Given the description of an element on the screen output the (x, y) to click on. 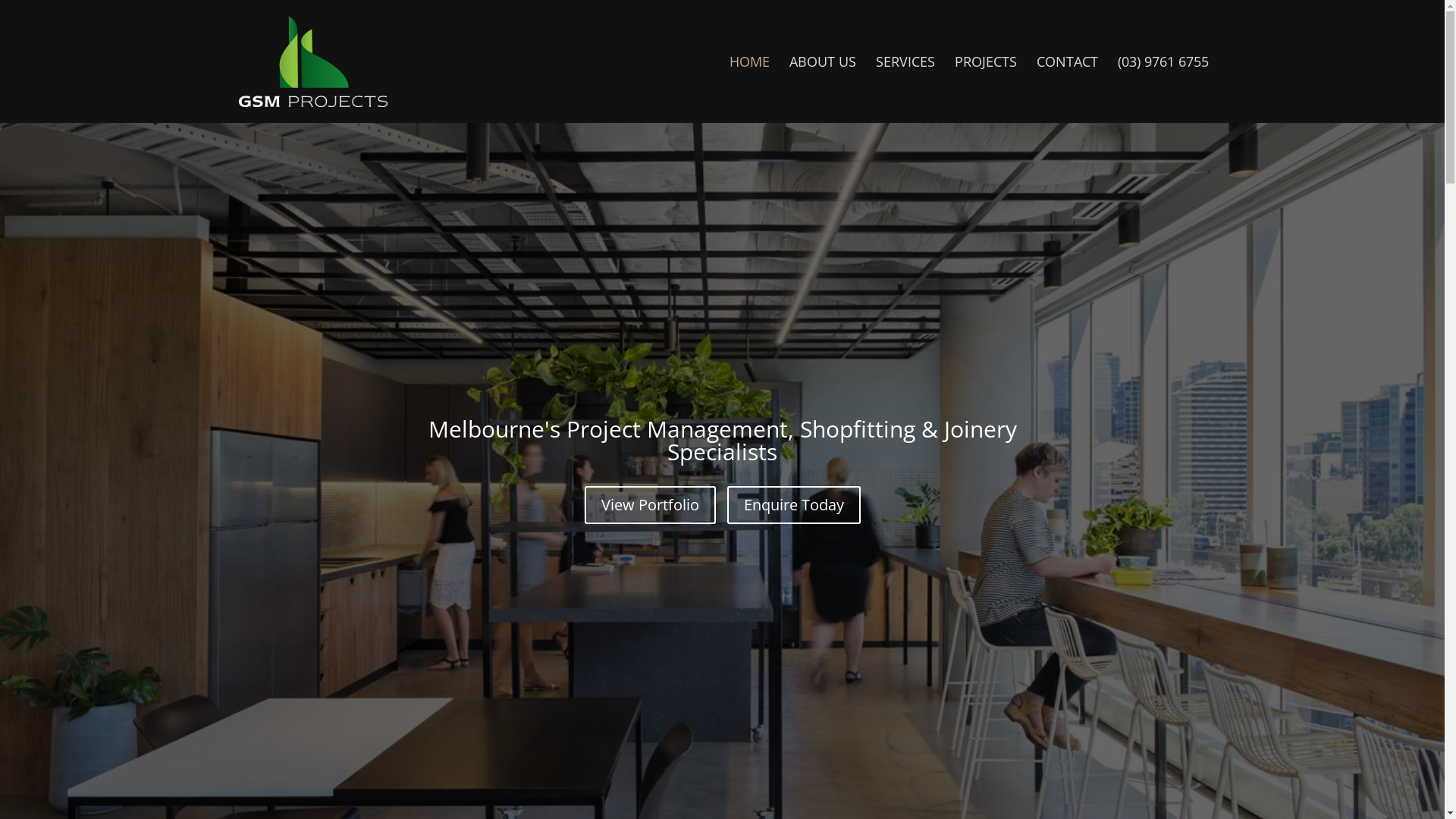
Enquire Today Element type: text (792, 505)
SERVICES Element type: text (905, 89)
(03) 9761 6755 Element type: text (1162, 89)
HOME Element type: text (749, 89)
ABOUT US Element type: text (822, 89)
View Portfolio Element type: text (649, 505)
CONTACT Element type: text (1067, 89)
PROJECTS Element type: text (985, 89)
